Given the description of an element on the screen output the (x, y) to click on. 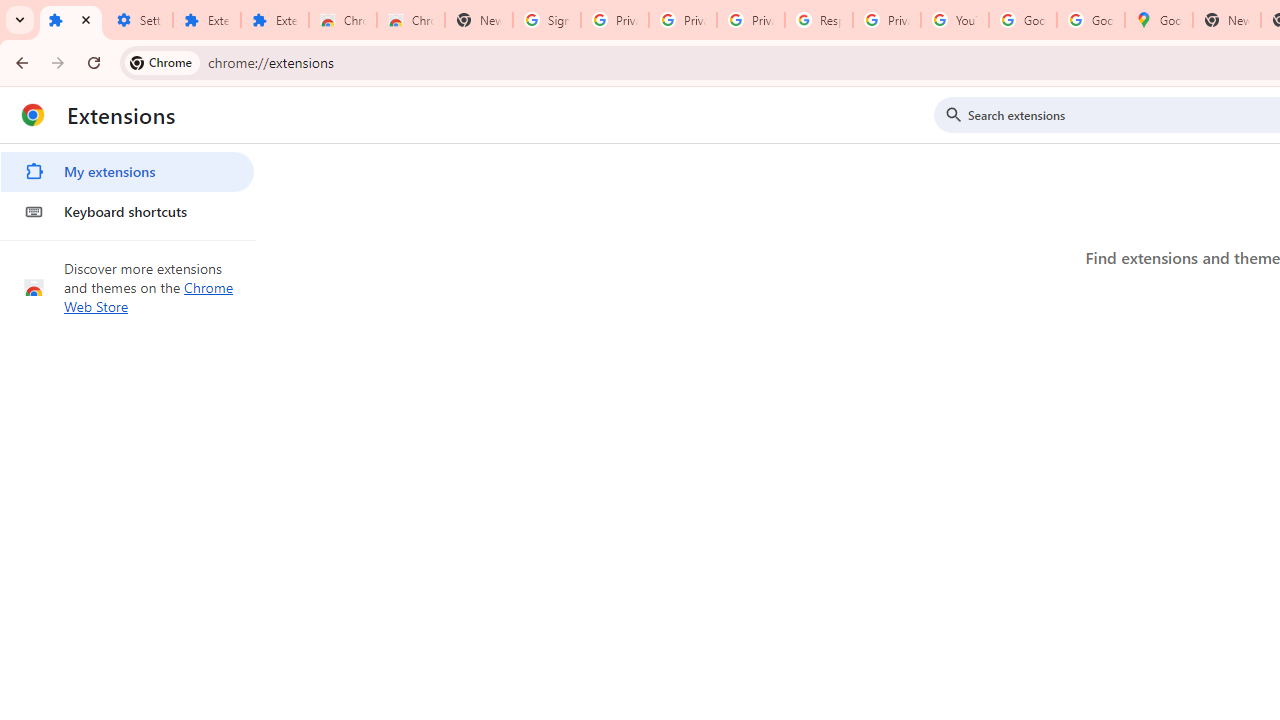
Chrome Web Store (342, 20)
